Given the description of an element on the screen output the (x, y) to click on. 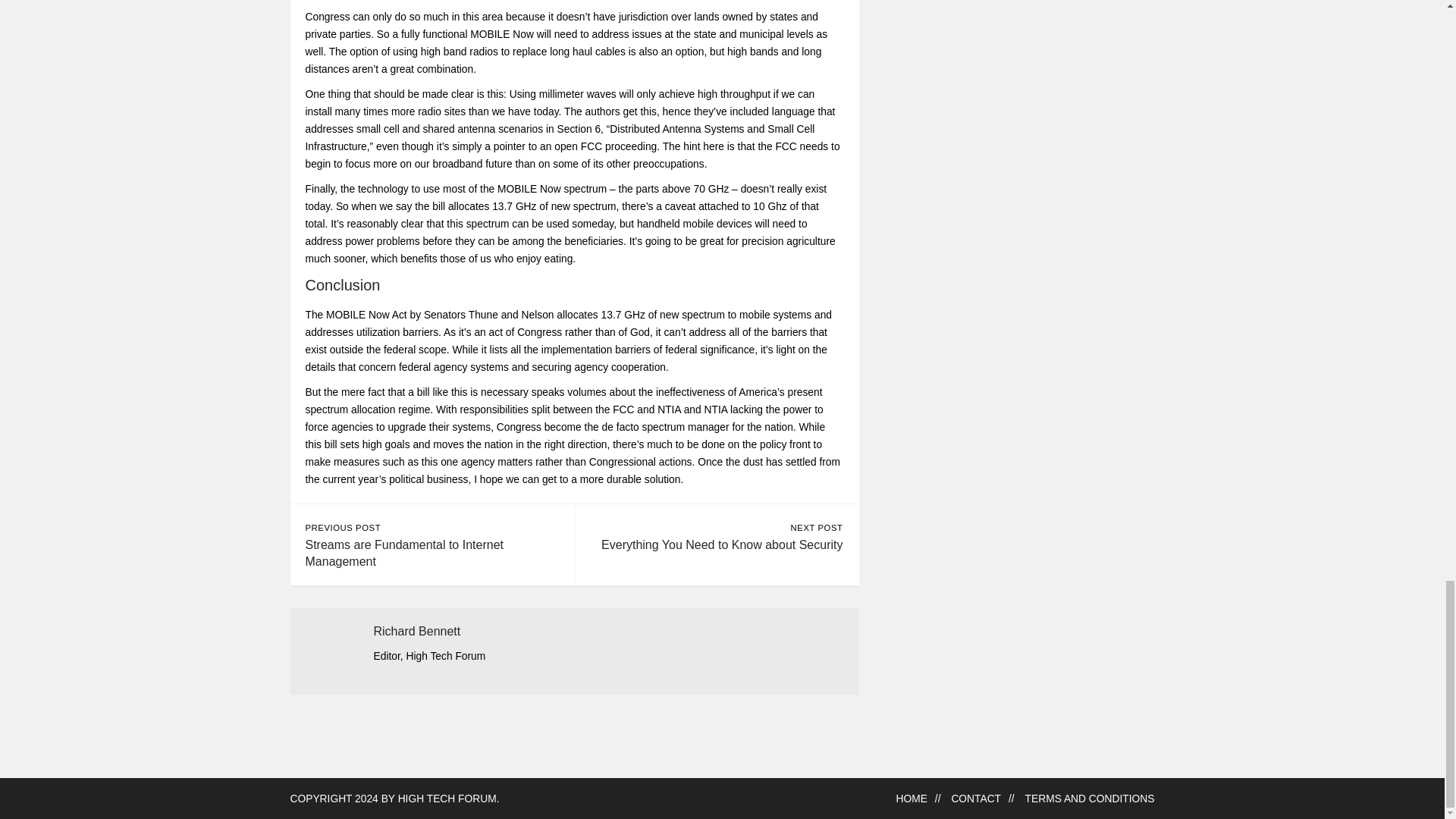
Streams are Fundamental to Internet Management (403, 553)
Streams are Fundamental to Internet Management (403, 553)
Everything You Need to Know about Security (722, 544)
You can't regulate what you don't understand (446, 798)
Everything You Need to Know about Security (722, 544)
